Given the description of an element on the screen output the (x, y) to click on. 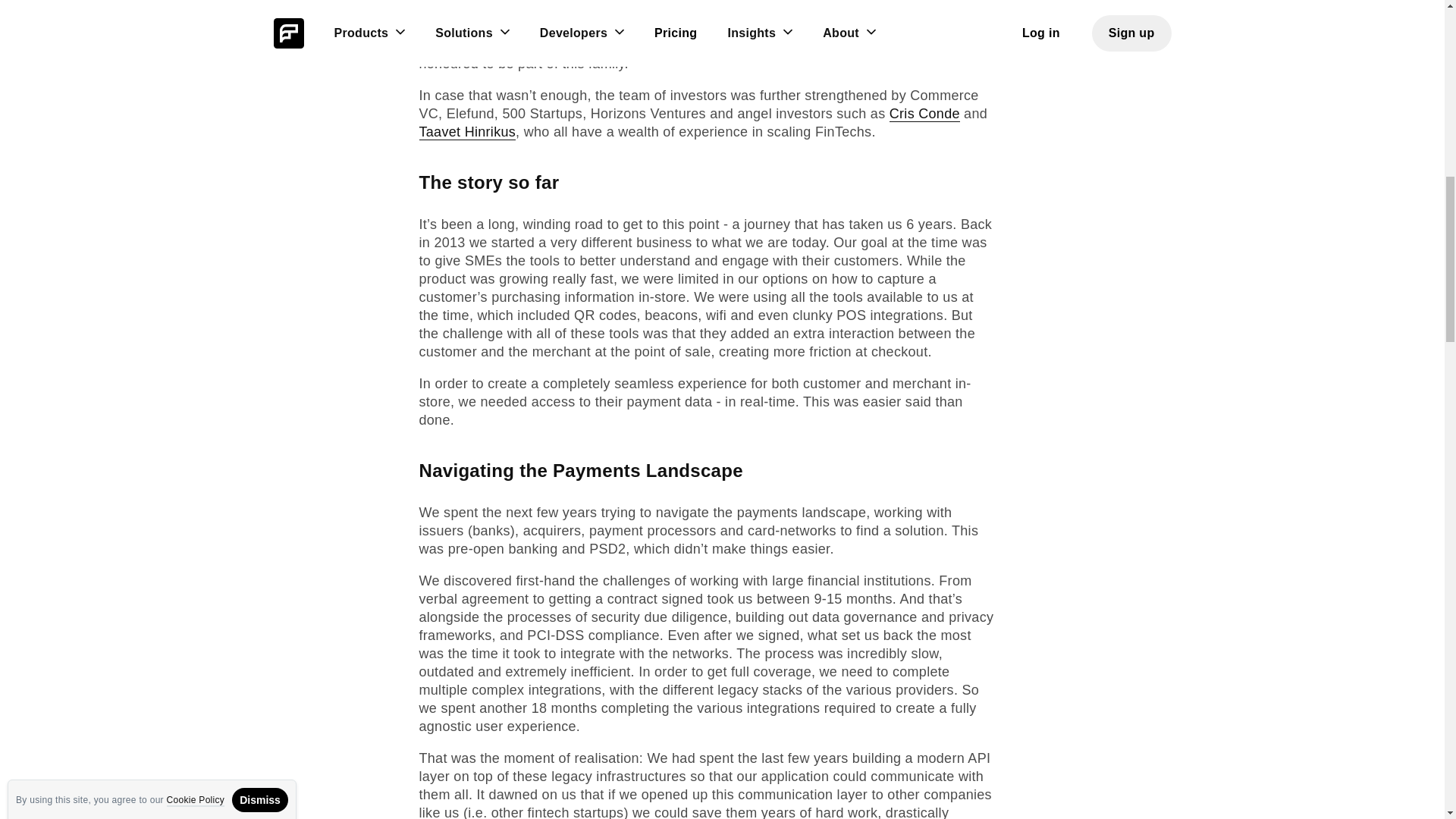
Taavet Hinrikus (467, 132)
Cris Conde (924, 114)
